Given the description of an element on the screen output the (x, y) to click on. 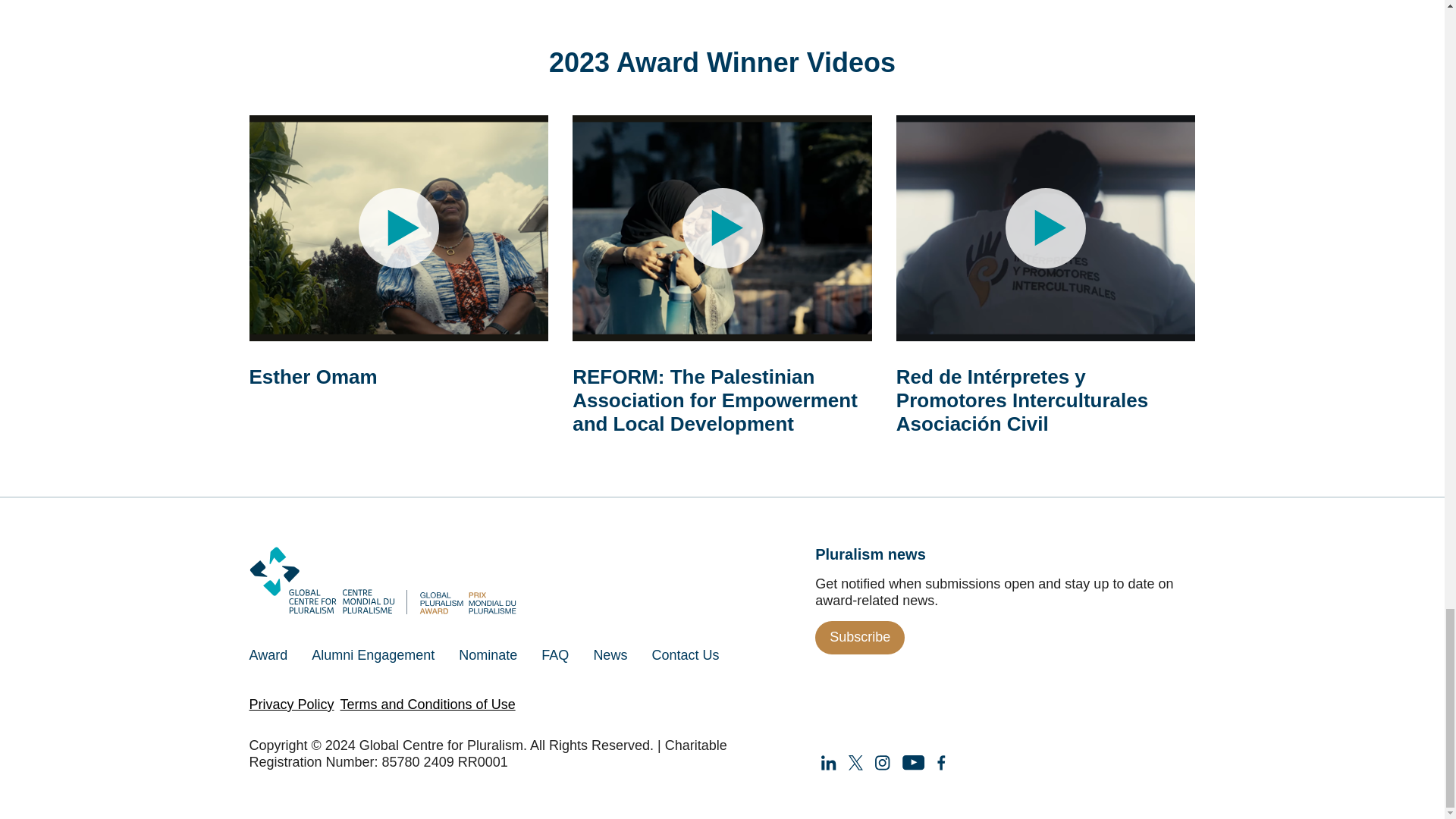
Privacy Policy (290, 703)
News (609, 654)
Contact Us (684, 654)
Nominate (487, 654)
FAQ (554, 654)
Subscribe (859, 637)
Alumni Engagement (372, 654)
Award (273, 654)
